Given the description of an element on the screen output the (x, y) to click on. 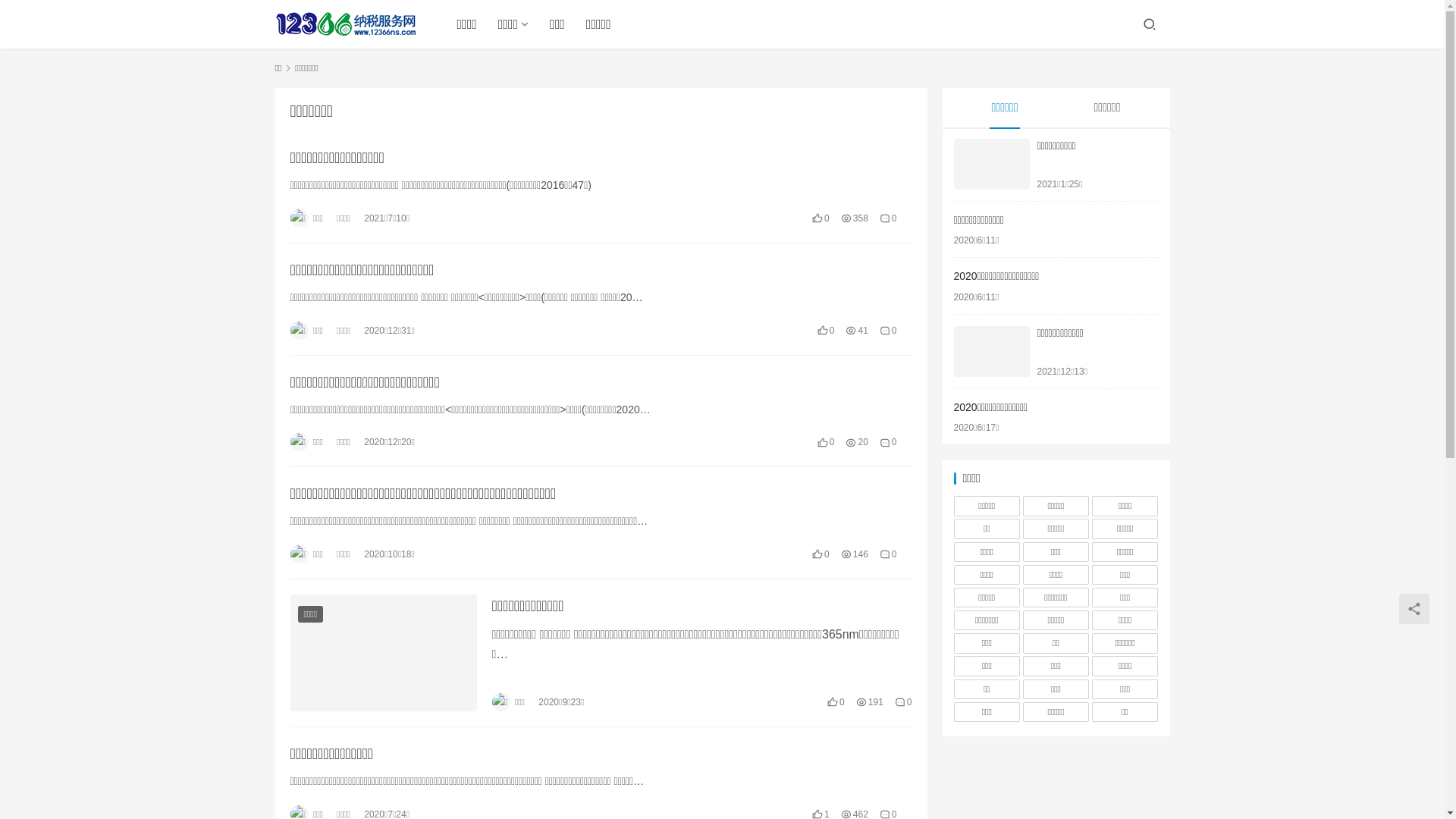
0 Element type: text (888, 330)
0 Element type: text (888, 218)
0 Element type: text (888, 554)
0 Element type: text (903, 702)
0 Element type: text (888, 442)
